Given the description of an element on the screen output the (x, y) to click on. 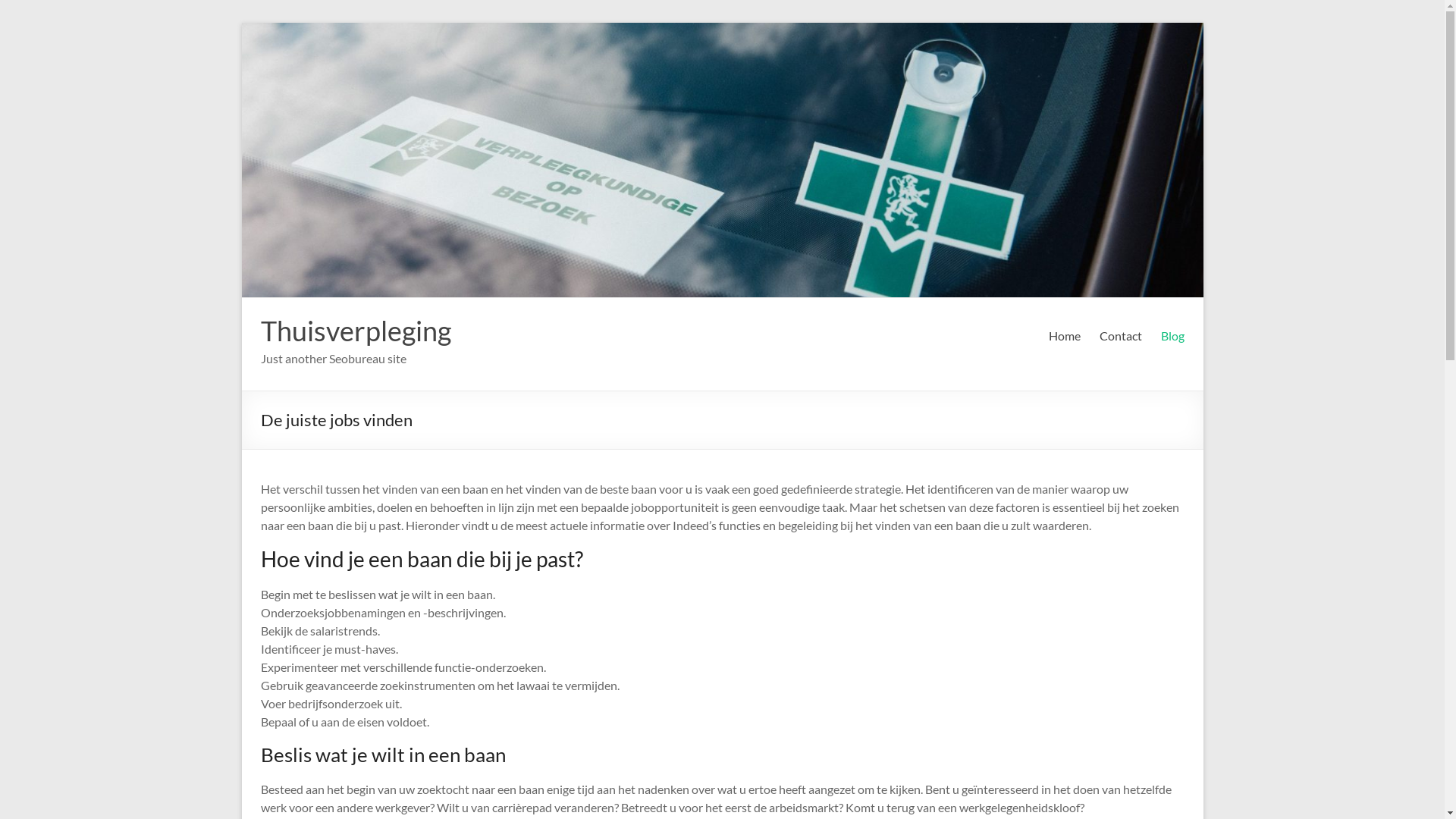
Ga naar inhoud Element type: text (241, 21)
Contact Element type: text (1120, 335)
Blog Element type: text (1171, 335)
Home Element type: text (1063, 335)
Thuisverpleging Element type: text (355, 330)
